Given the description of an element on the screen output the (x, y) to click on. 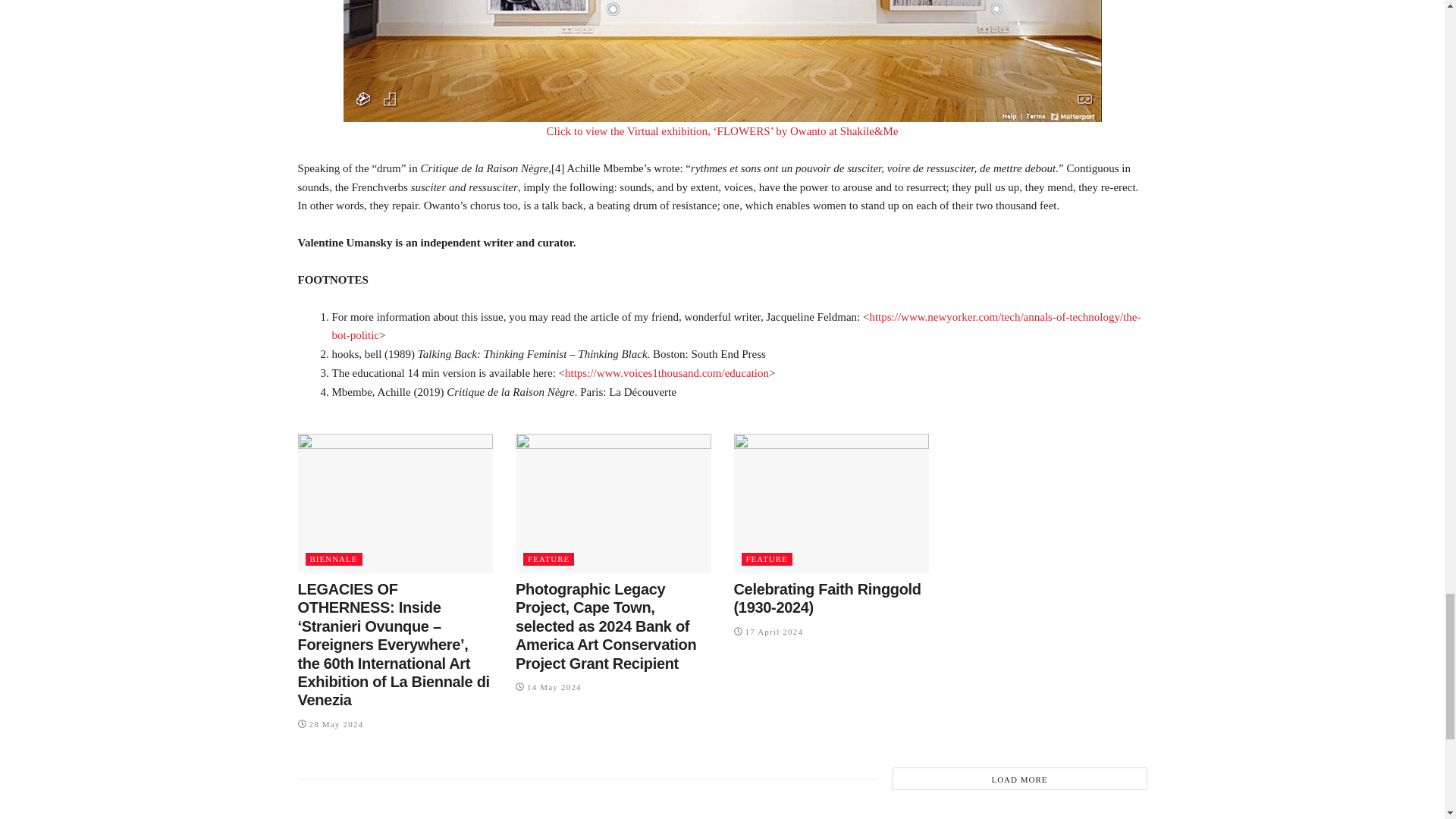
FEATURE (766, 558)
LOAD MORE (1019, 778)
FEATURE (547, 558)
28 May 2024 (329, 723)
BIENNALE (332, 558)
14 May 2024 (547, 686)
17 April 2024 (768, 631)
